Given the description of an element on the screen output the (x, y) to click on. 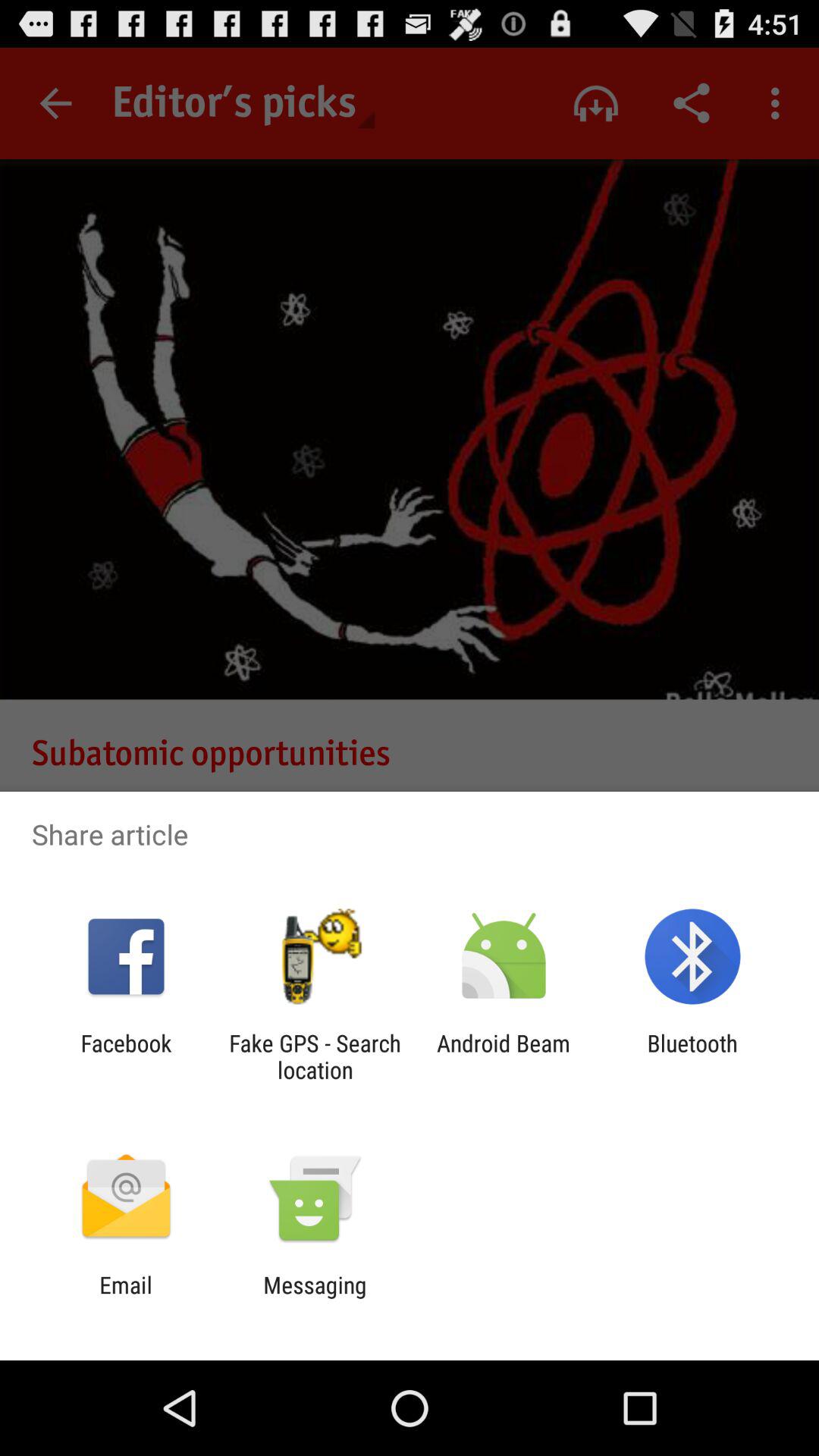
launch the app to the right of email app (314, 1298)
